Given the description of an element on the screen output the (x, y) to click on. 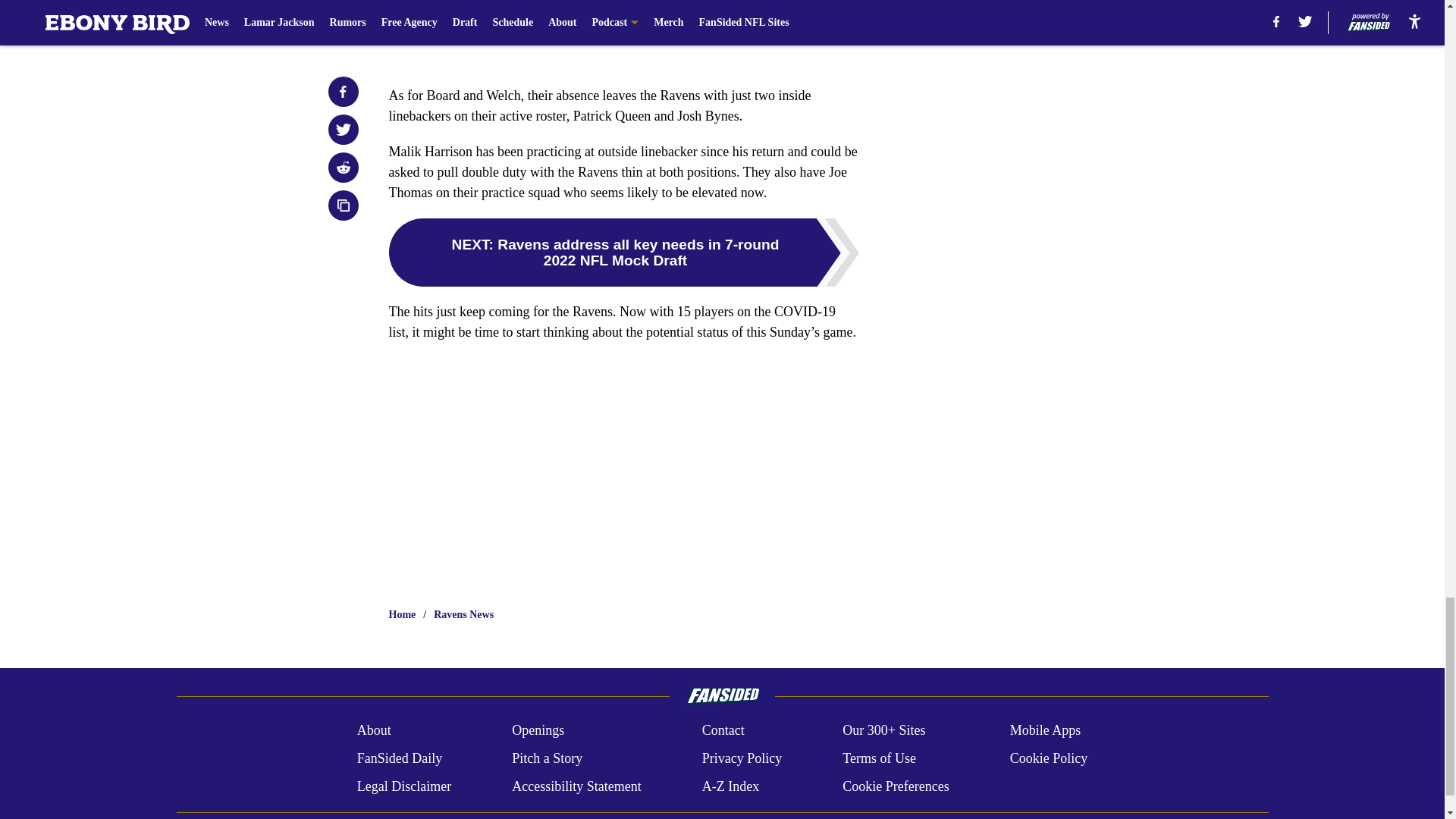
Terms of Use (879, 758)
Cookie Policy (1048, 758)
About (373, 730)
FanSided Daily (399, 758)
Privacy Policy (742, 758)
Ravens News (463, 614)
Home (401, 614)
Contact (722, 730)
Pitch a Story (547, 758)
